Given the description of an element on the screen output the (x, y) to click on. 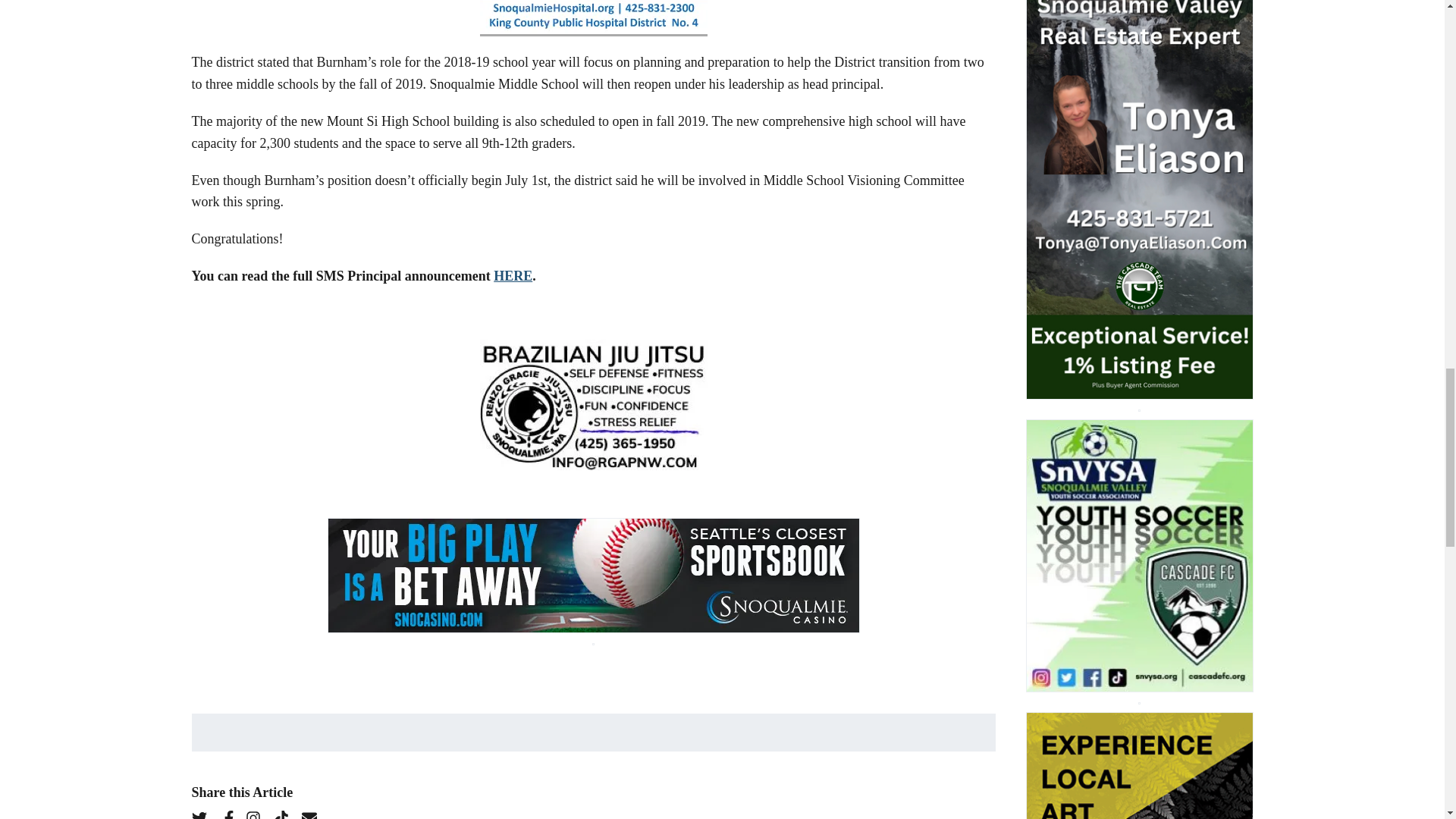
Email (315, 814)
HERE (512, 275)
Facebook (232, 814)
Twitter (203, 814)
TikTok (285, 814)
Instagram (258, 814)
